Given the description of an element on the screen output the (x, y) to click on. 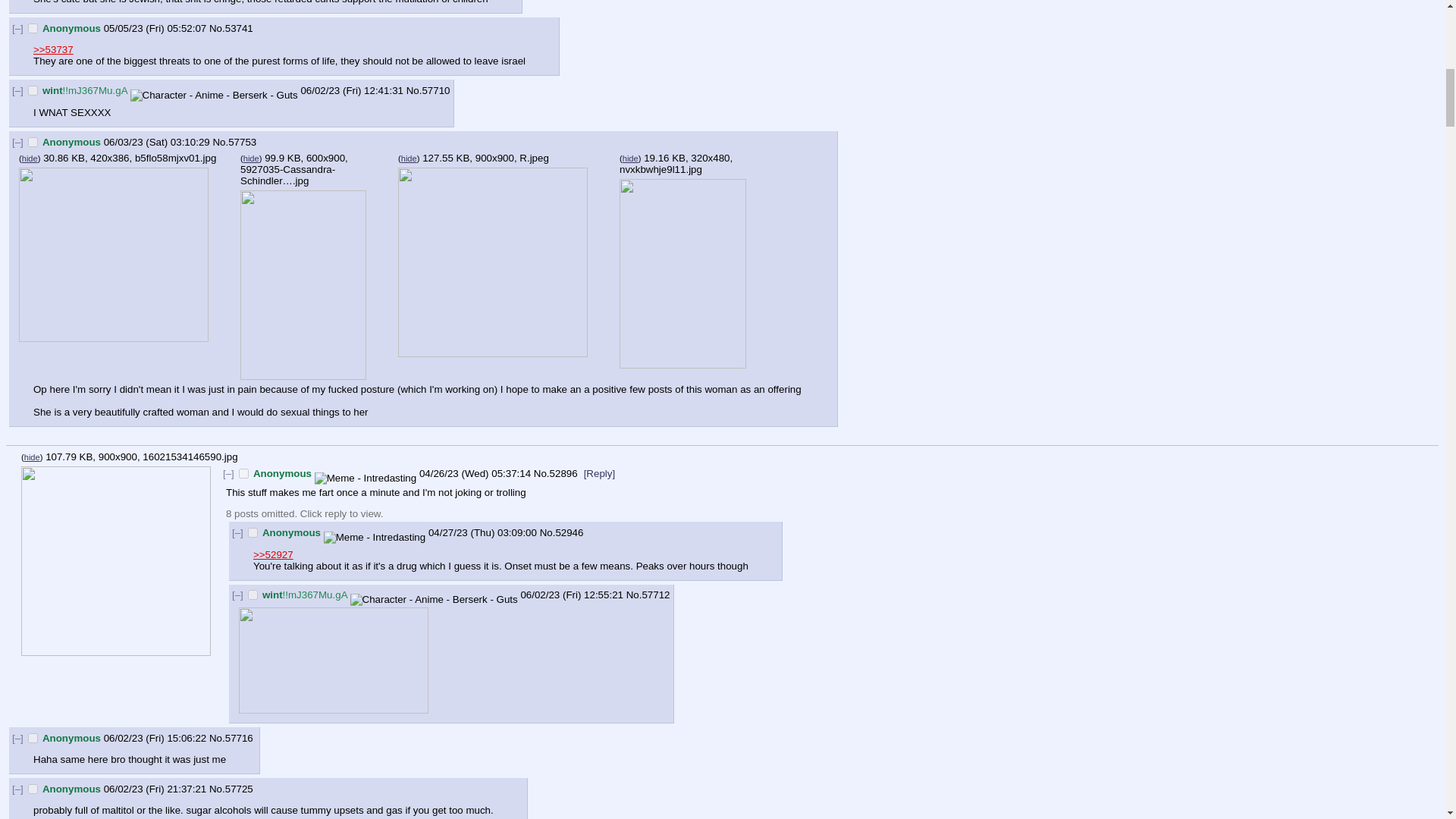
1 year ago (482, 532)
57710 (435, 90)
1 year ago (351, 90)
1 year ago (154, 28)
Meme - Intredasting (374, 536)
1 year ago (154, 788)
Character - Anime - Berserk - Guts (434, 599)
on (252, 532)
on (243, 473)
1 year ago (475, 473)
